Given the description of an element on the screen output the (x, y) to click on. 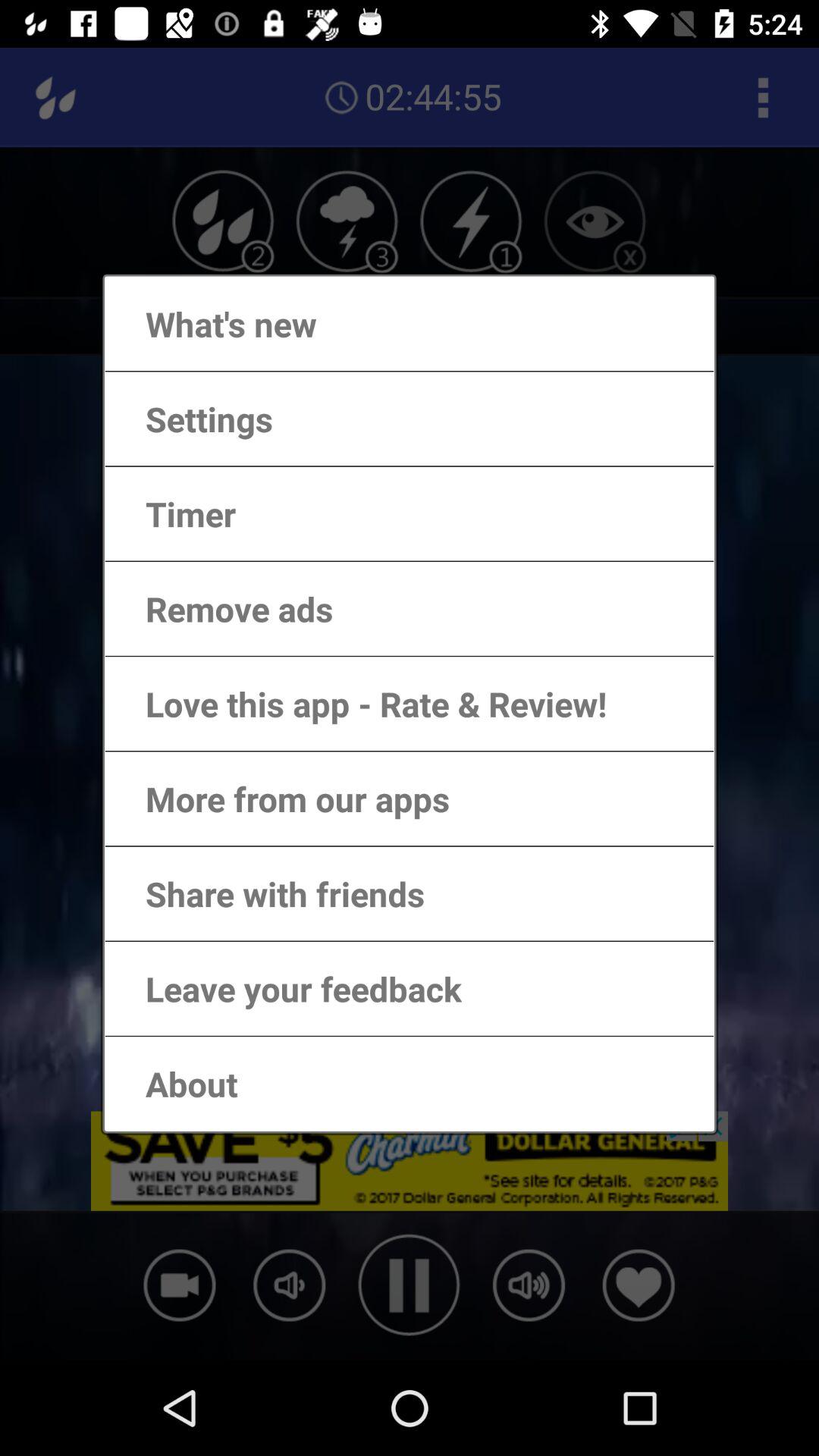
flip until leave your feedback item (288, 988)
